Given the description of an element on the screen output the (x, y) to click on. 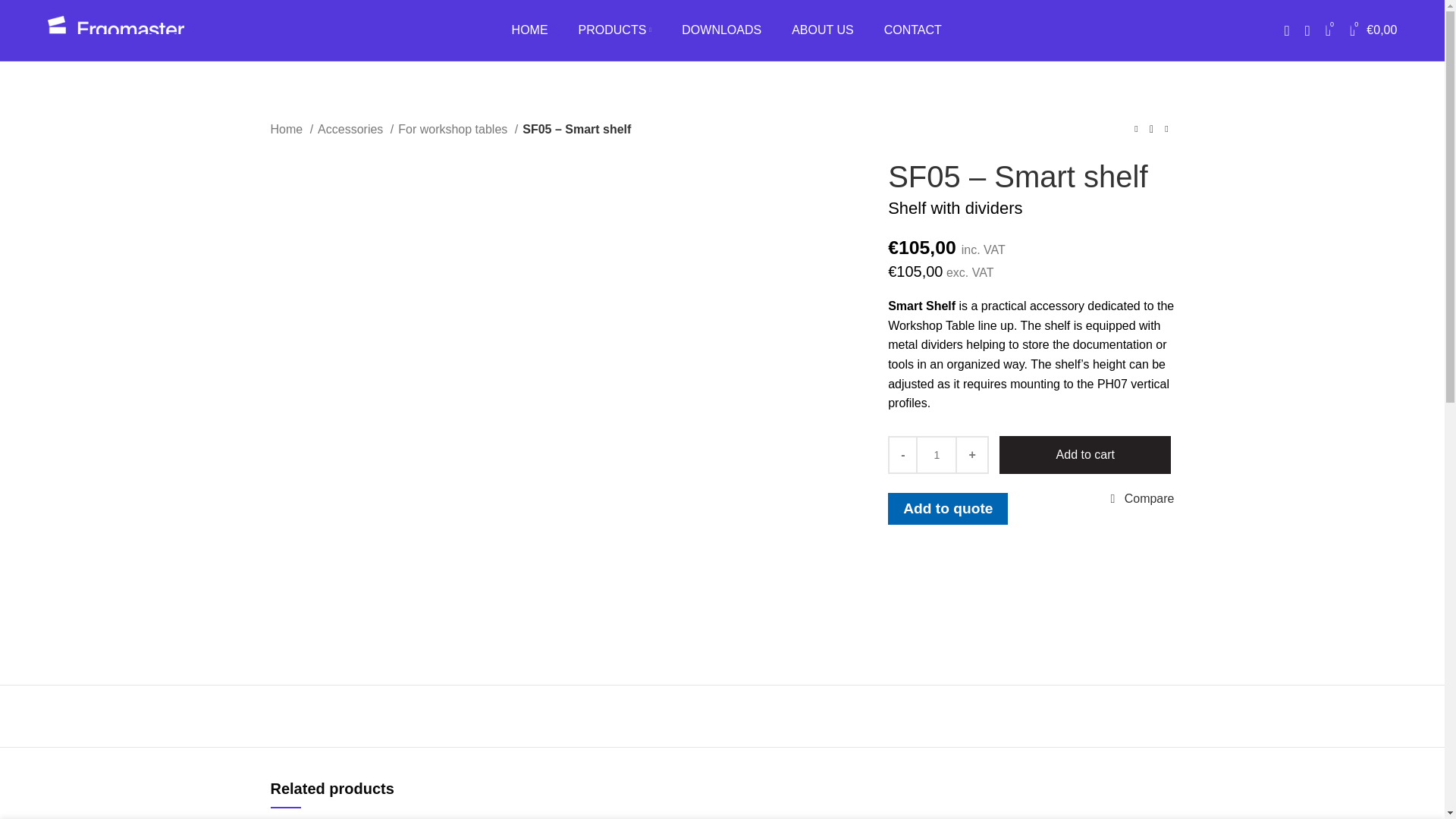
Accessories (355, 129)
For workshop tables (457, 129)
DOWNLOADS (721, 30)
ABOUT US (822, 30)
Home (291, 129)
1 (936, 454)
Log in (1164, 274)
CONTACT (912, 30)
Shopping cart (1373, 30)
PRODUCTS (614, 30)
